Given the description of an element on the screen output the (x, y) to click on. 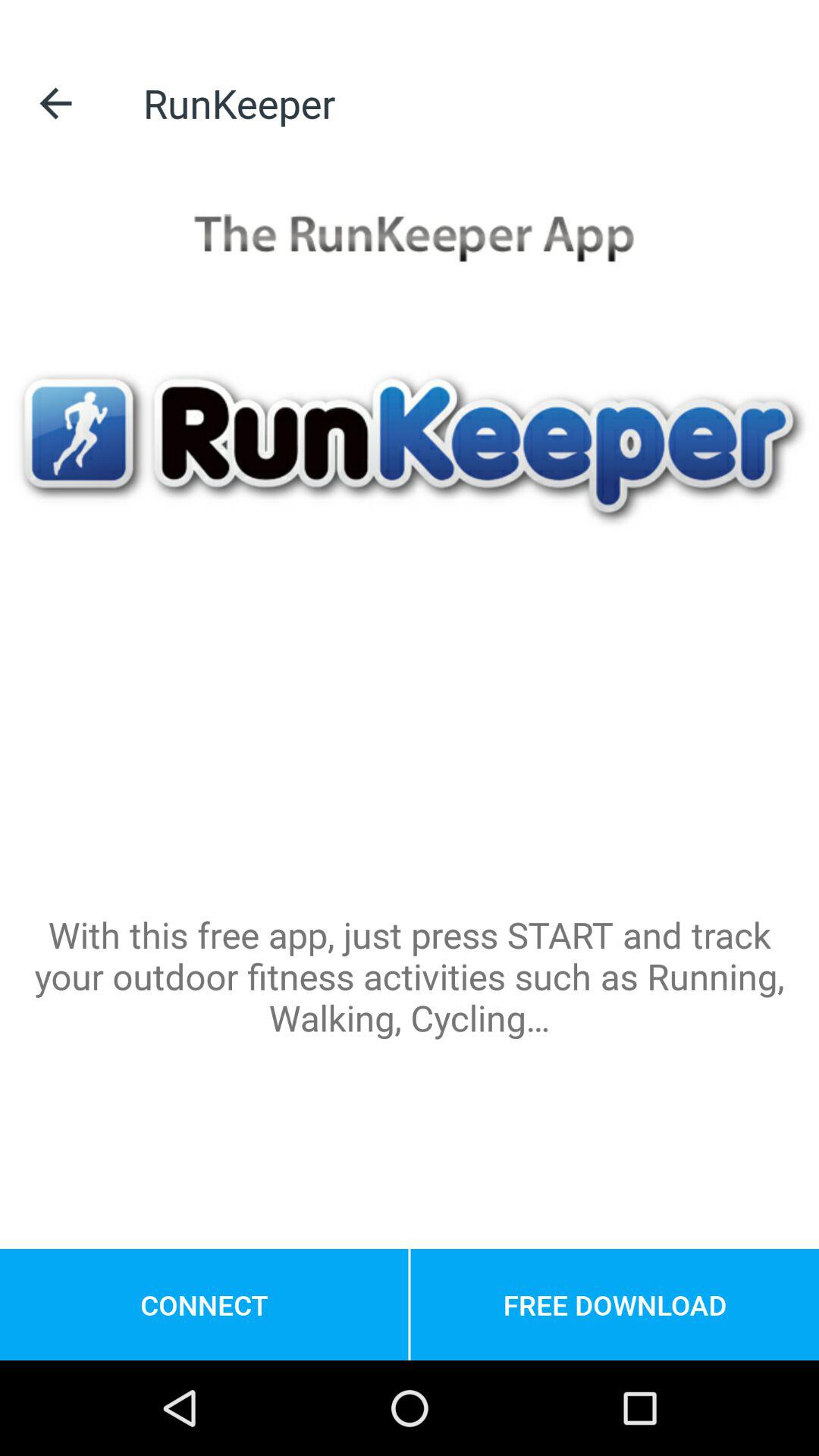
choose the connect at the bottom left corner (204, 1304)
